Given the description of an element on the screen output the (x, y) to click on. 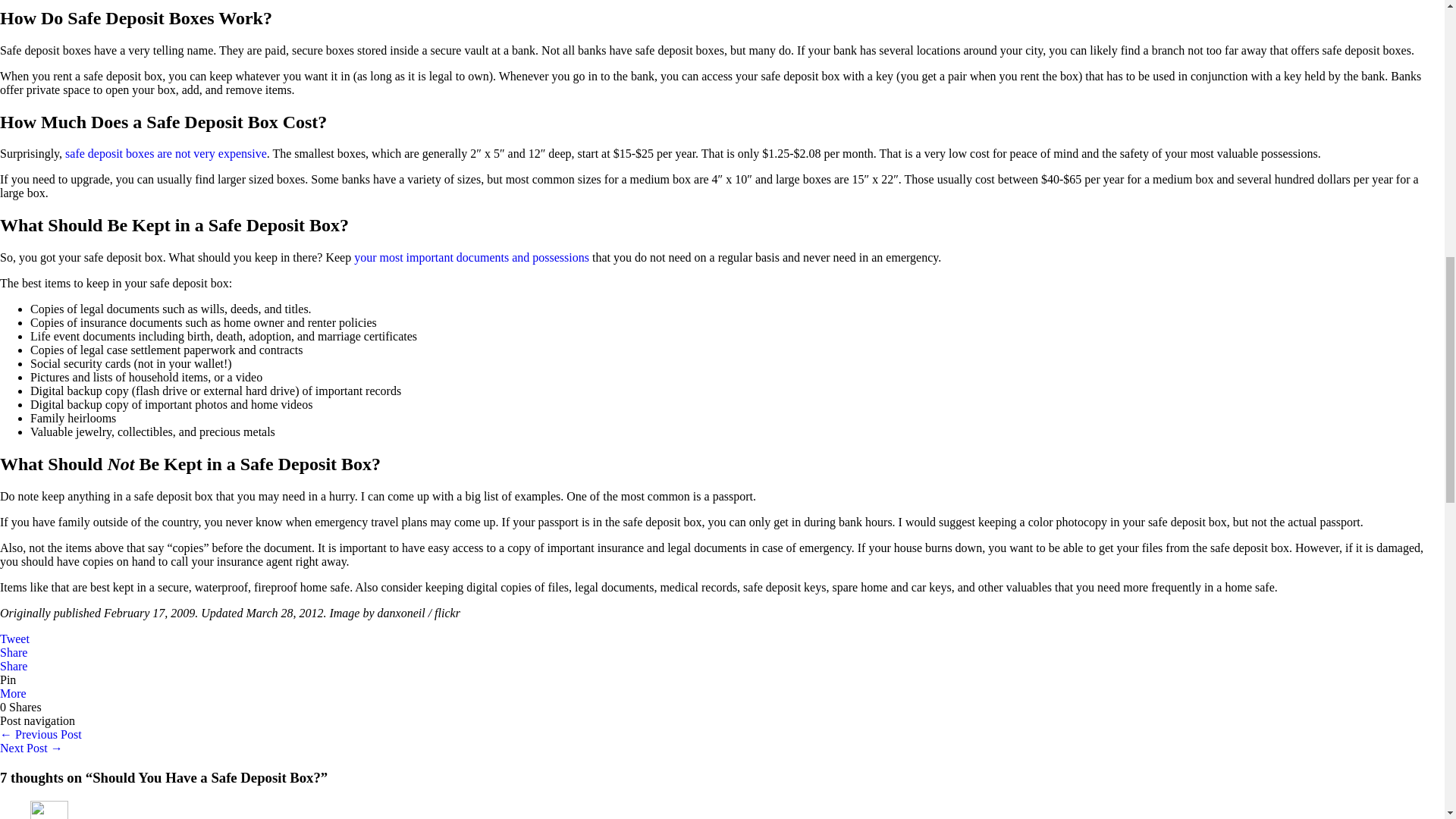
3 Easy Ways to Save Money on Everyday Expenses (31, 748)
What is a Diversified Portfolio and How can I Build One? (40, 734)
